Given the description of an element on the screen output the (x, y) to click on. 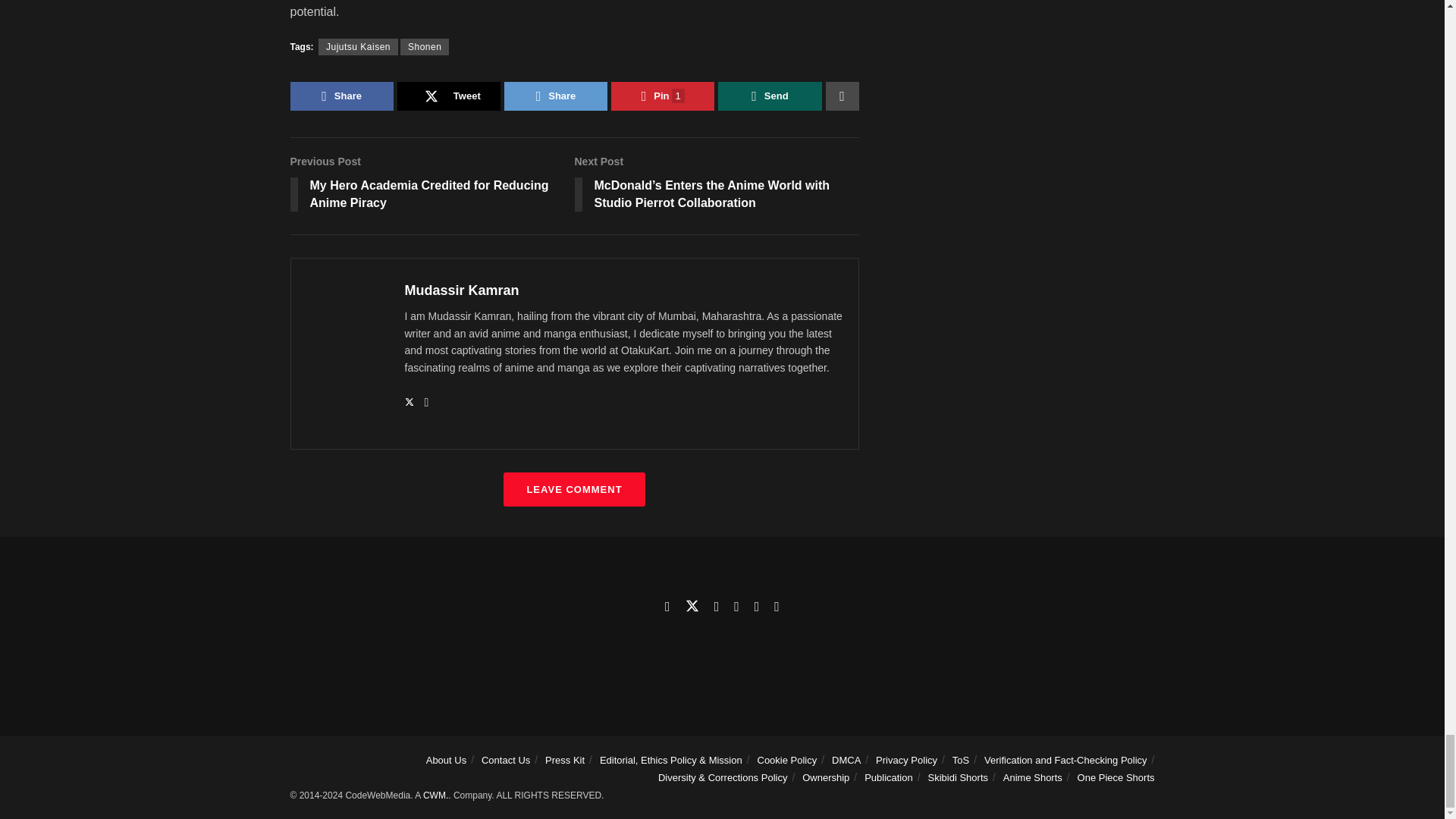
Tweet (448, 95)
Shonen (424, 46)
Share (341, 95)
Send (769, 95)
Jujutsu Kaisen (357, 46)
Pin1 (662, 95)
Share (555, 95)
Mudassir Kamran (461, 290)
